Given the description of an element on the screen output the (x, y) to click on. 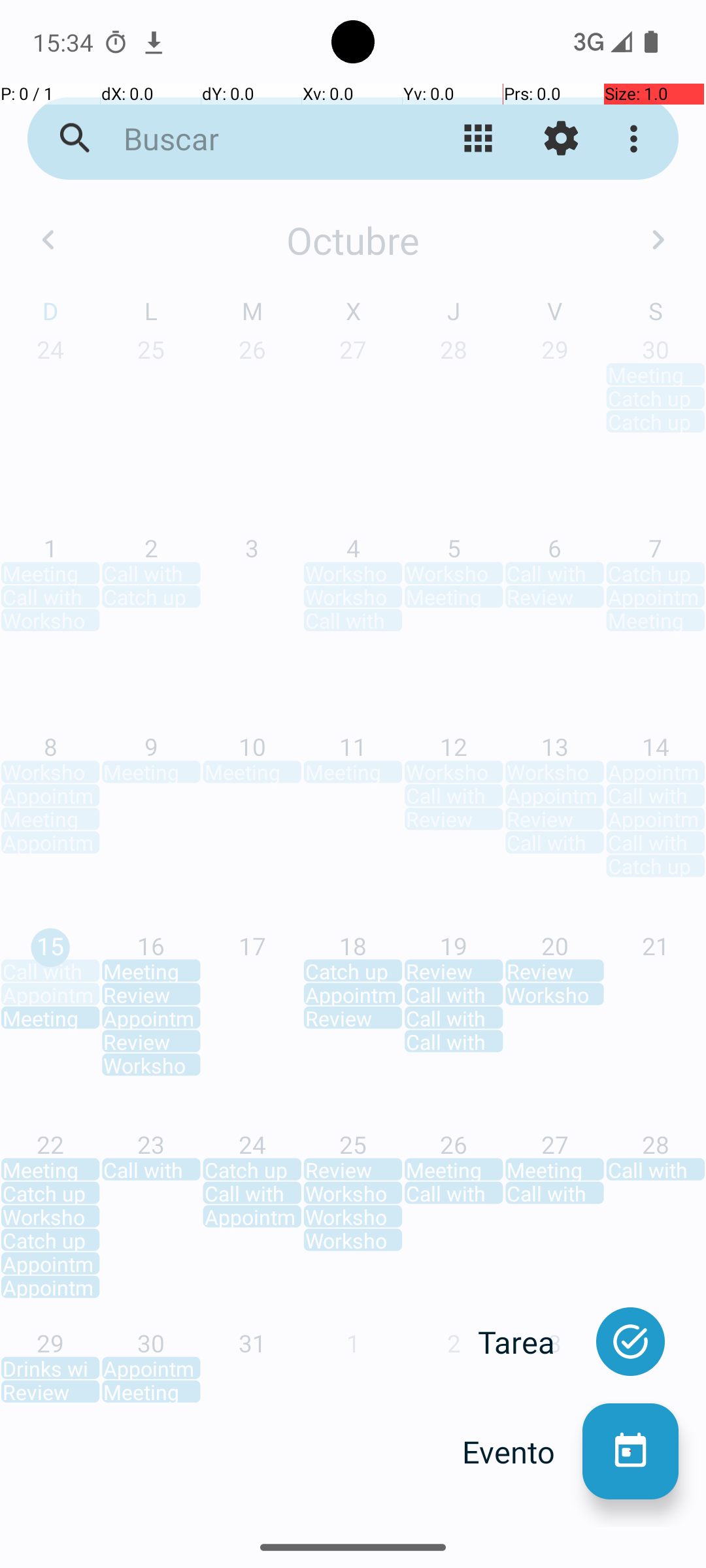
Tarea Element type: android.widget.TextView (529, 1341)
Evento Element type: android.widget.TextView (522, 1451)
